Given the description of an element on the screen output the (x, y) to click on. 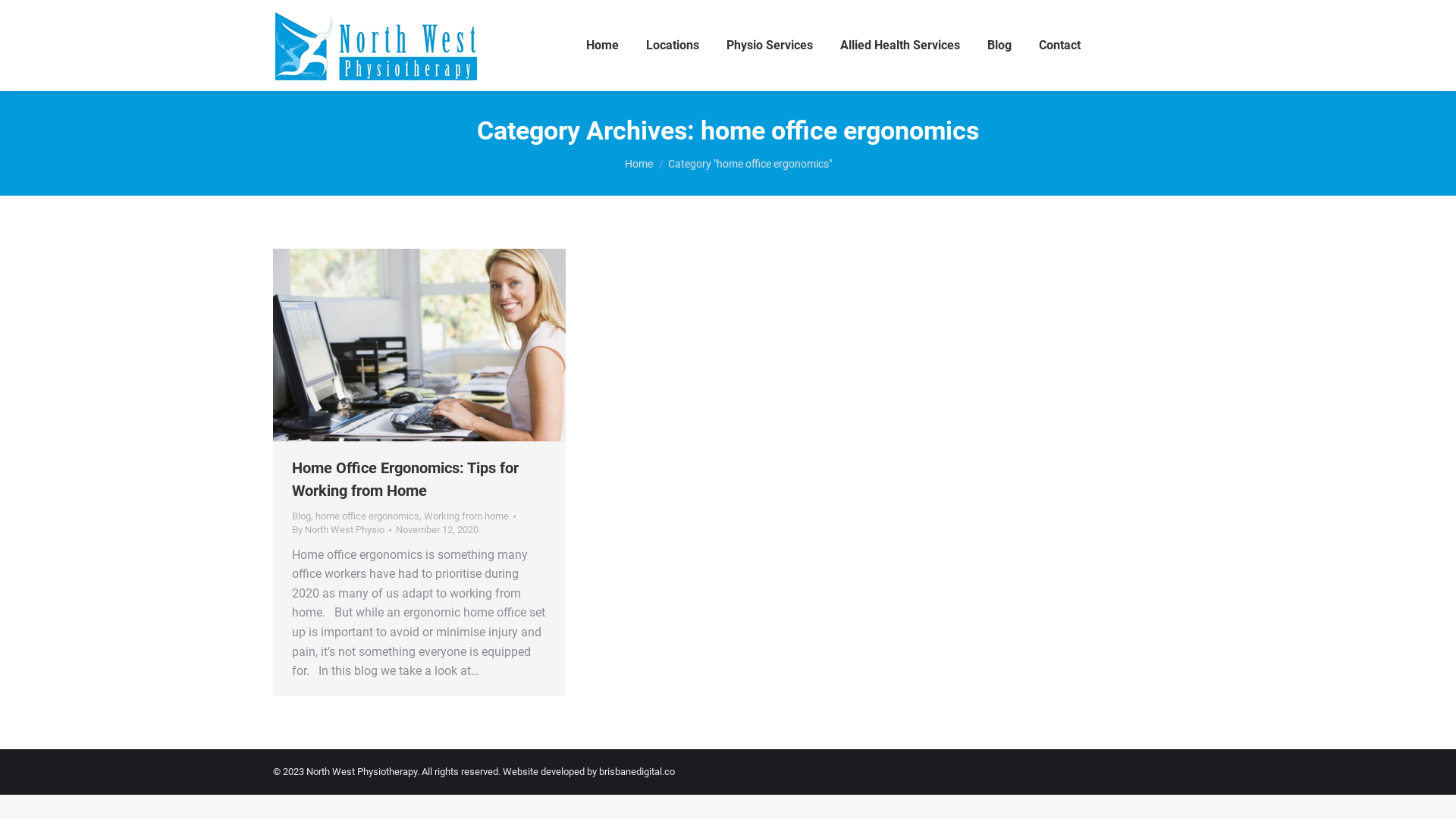
November 12, 2020 Element type: text (436, 529)
Physio Services Element type: text (769, 45)
Home Element type: text (638, 163)
Allied Health Services Element type: text (900, 45)
Blog Element type: text (999, 45)
Locations Element type: text (672, 45)
Blog Element type: text (300, 515)
home office ergonomics Element type: text (367, 515)
brisbanedigital.co Element type: text (636, 771)
Home Office Ergonomics: Tips for Working from Home Element type: text (404, 478)
Home Element type: text (601, 45)
Working from home Element type: text (465, 515)
Image3 Element type: hover (419, 344)
By North West Physio Element type: text (341, 529)
Contact Element type: text (1059, 45)
